Given the description of an element on the screen output the (x, y) to click on. 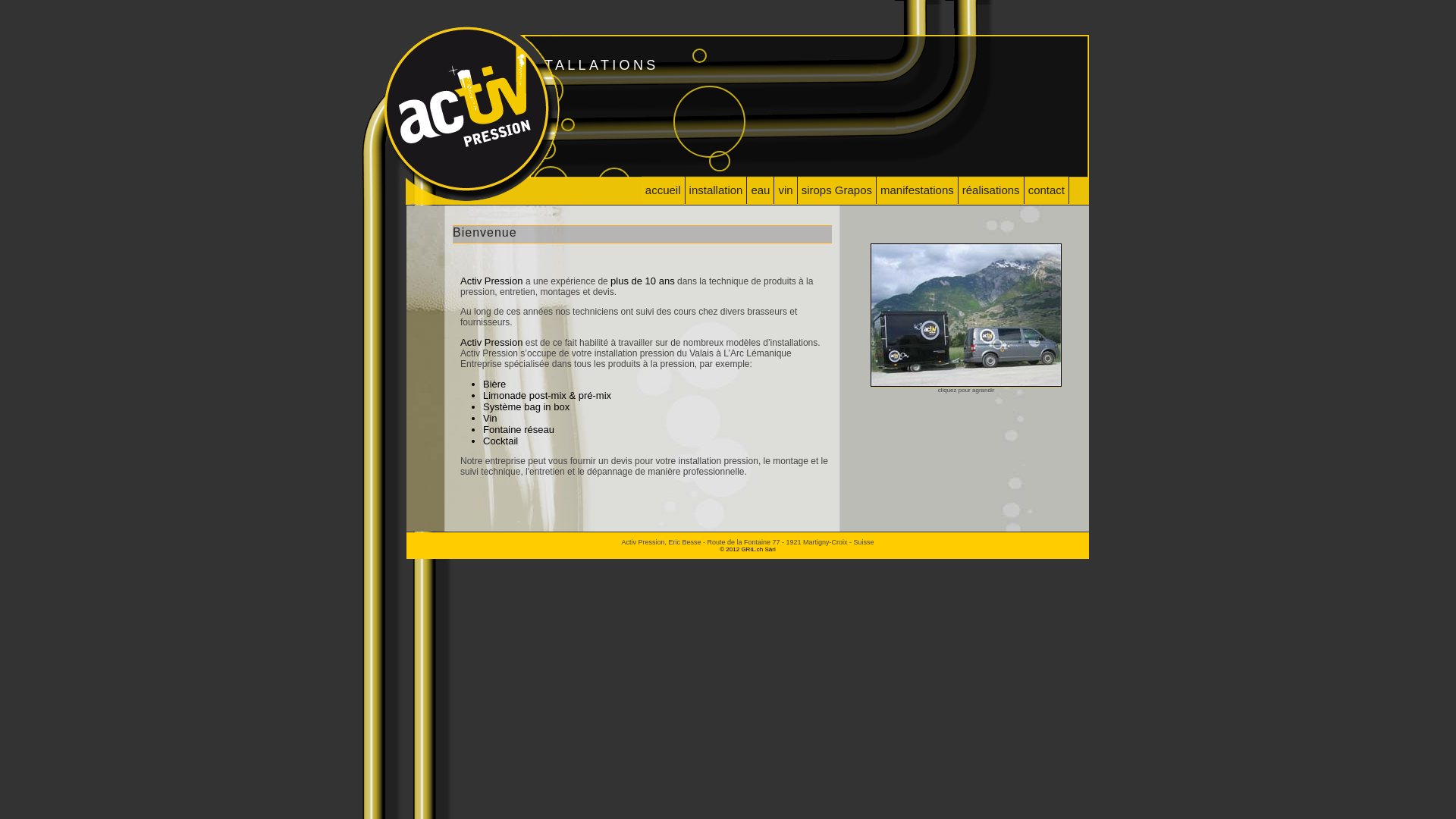
vin Element type: text (785, 189)
accueil Element type: text (663, 189)
contact Element type: text (1046, 189)
eau Element type: text (760, 189)
installation Element type: text (716, 189)
Un des attelage Activ Pression Element type: hover (965, 384)
sirops Grapos Element type: text (836, 189)
manifestations Element type: text (917, 189)
